Given the description of an element on the screen output the (x, y) to click on. 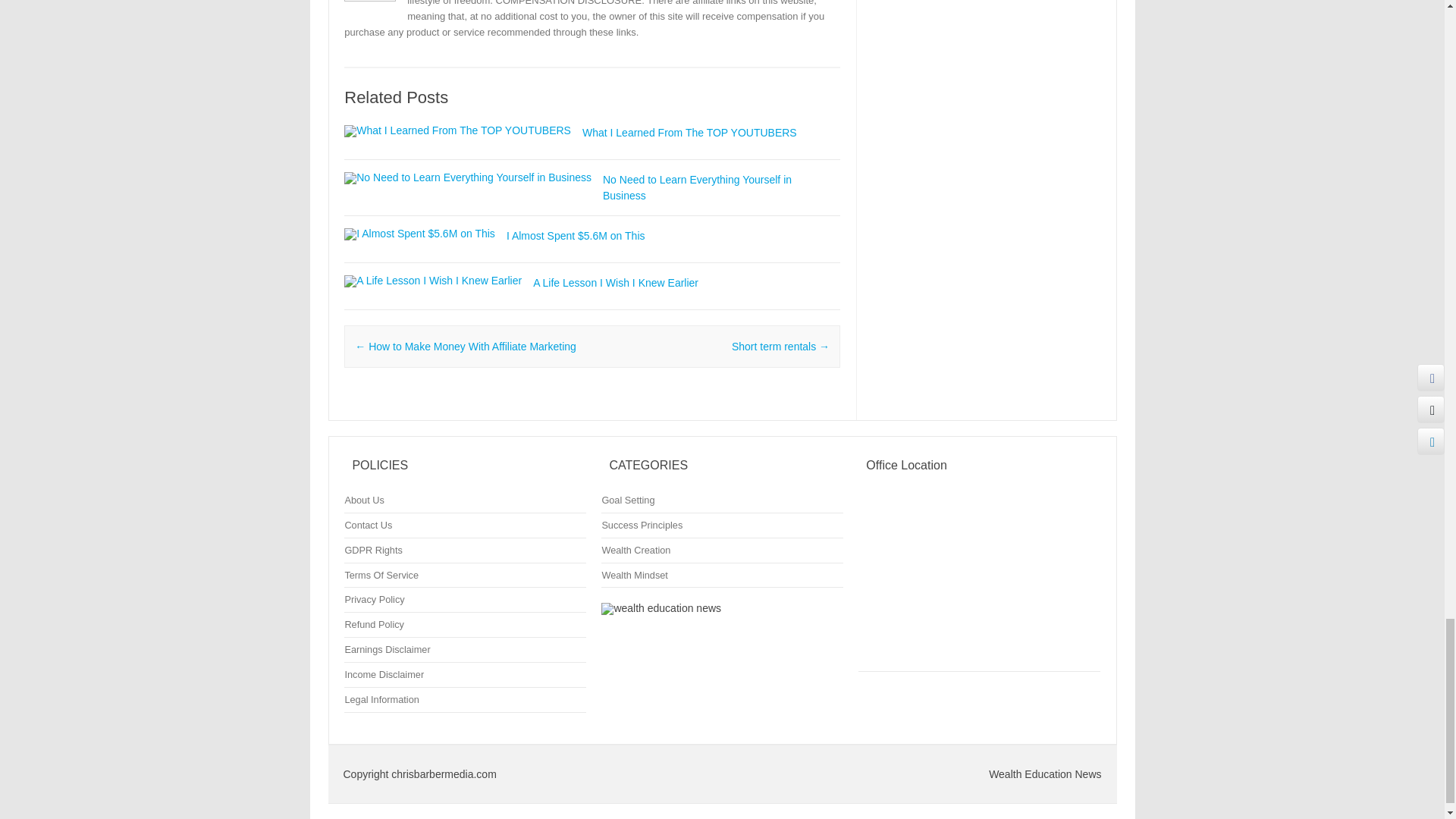
A Life Lesson I Wish I Knew Earlier (615, 282)
A Life Lesson I Wish I Knew Earlier (432, 280)
What I Learned From The TOP YOUTUBERS (689, 132)
No Need to Learn Everything Yourself in Business (697, 187)
What I Learned From The TOP YOUTUBERS (456, 130)
No Need to Learn Everything Yourself in Business (467, 177)
A Life Lesson I Wish I Knew Earlier (615, 282)
What I Learned From The TOP YOUTUBERS (689, 132)
No Need to Learn Everything Yourself in Business (697, 187)
